Given the description of an element on the screen output the (x, y) to click on. 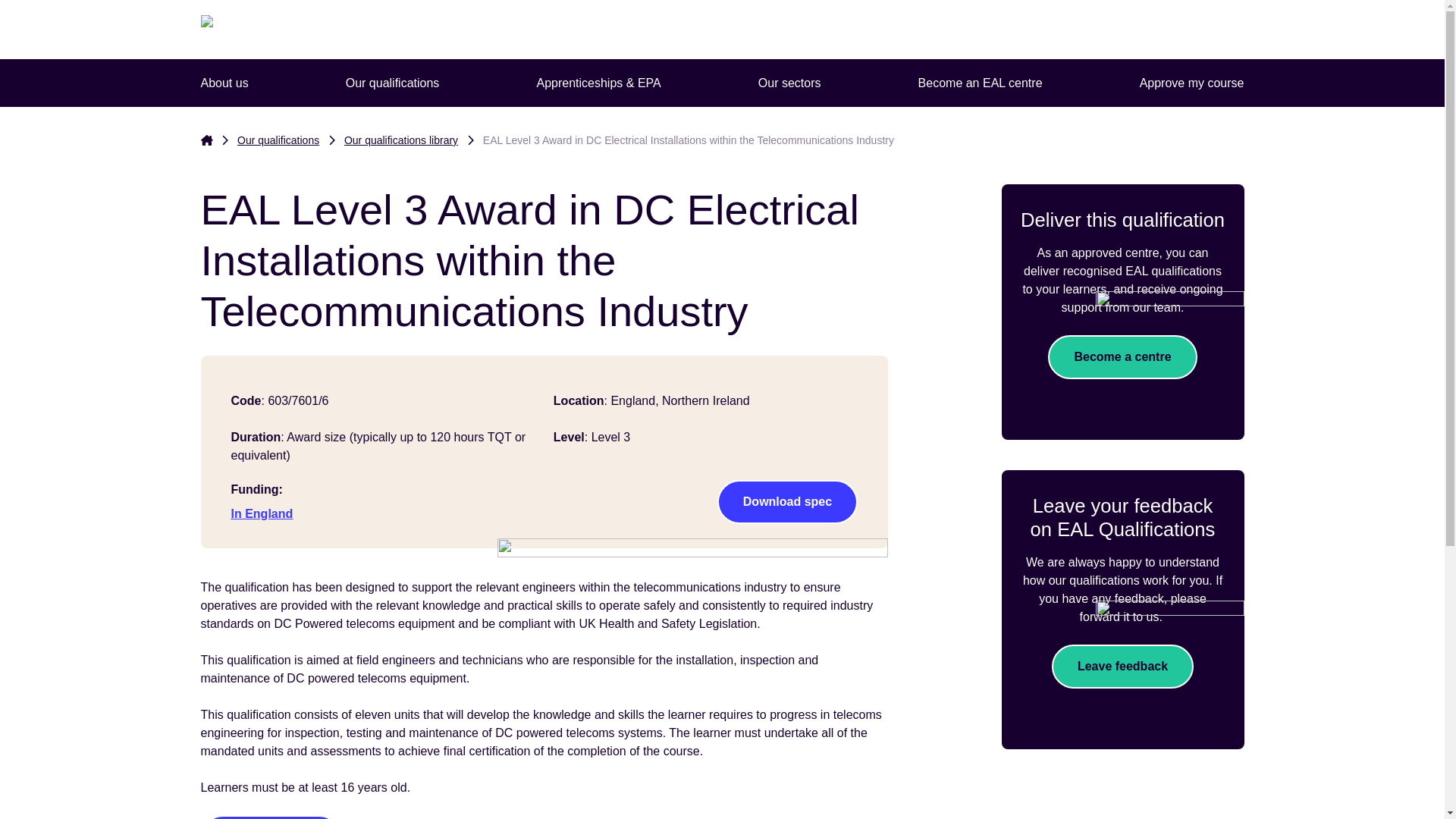
About us (223, 83)
Our qualifications (392, 83)
Our sectors (789, 83)
Become an EAL centre (980, 83)
Approve my course (1192, 83)
